Given the description of an element on the screen output the (x, y) to click on. 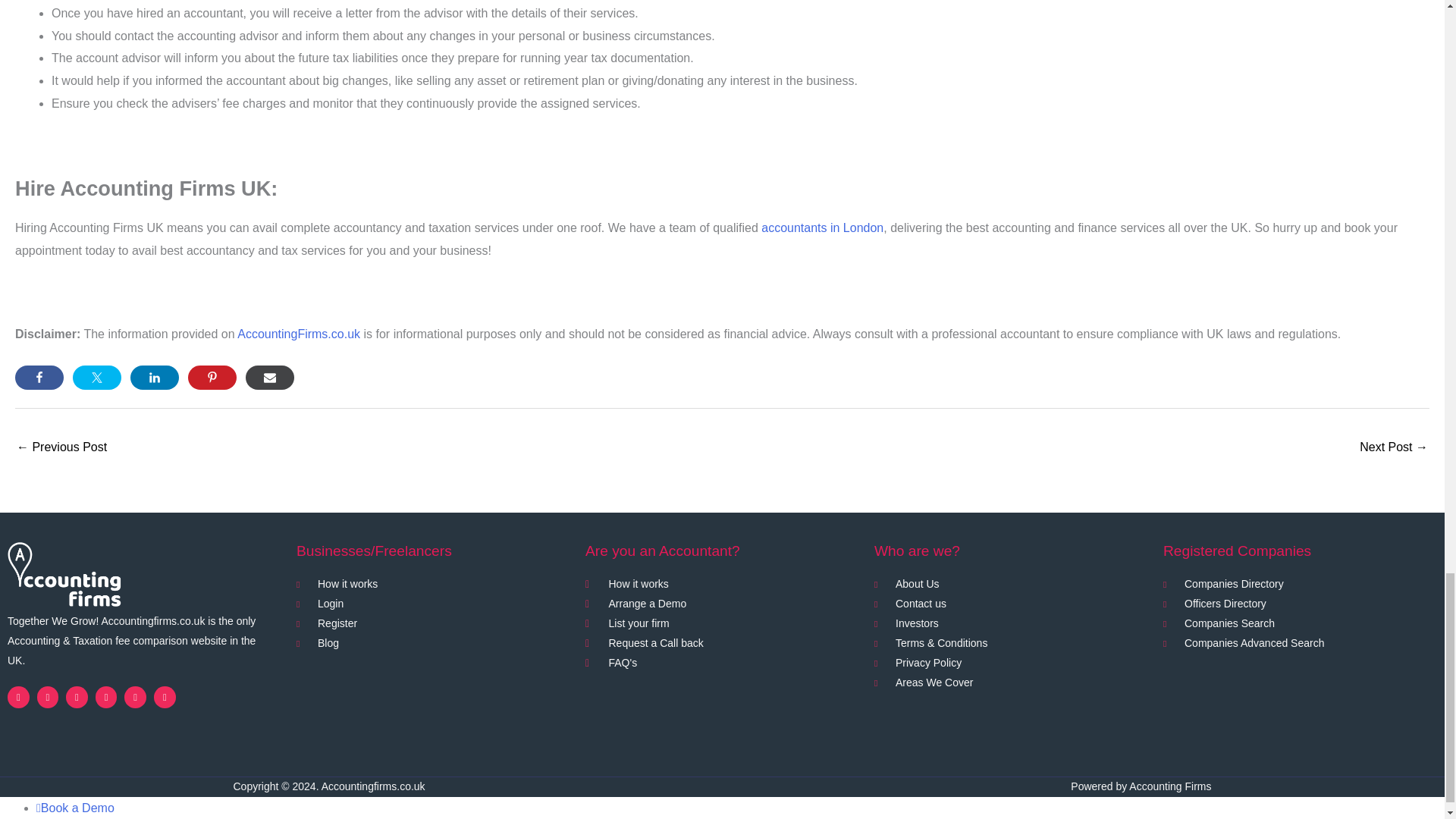
How it works (433, 584)
Linkedin (76, 697)
Share on LinkedIn (155, 377)
Facebook (18, 697)
Share on Pinterest (211, 377)
Twitter (48, 697)
Stay Vigilant Before Consulting an Unqualified Accountant (61, 448)
Share via Email (270, 377)
Share on Twitter (96, 377)
Register (433, 623)
Blog (433, 643)
Instagram (106, 697)
Share on Facebook (39, 377)
Whatsapp (135, 697)
AccountingFirms.co.uk (298, 333)
